Given the description of an element on the screen output the (x, y) to click on. 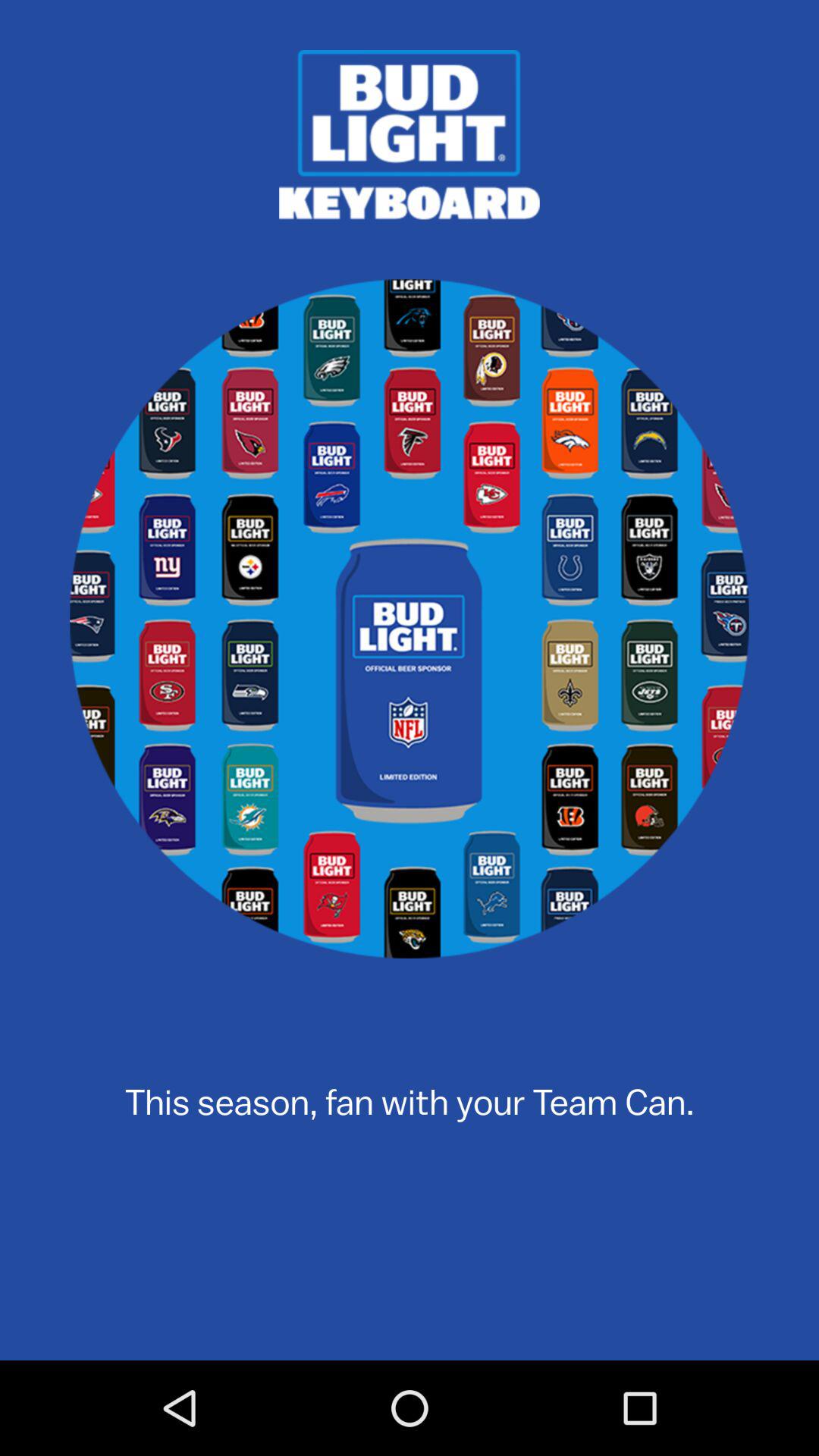
select item below this season fan icon (409, 1287)
